Given the description of an element on the screen output the (x, y) to click on. 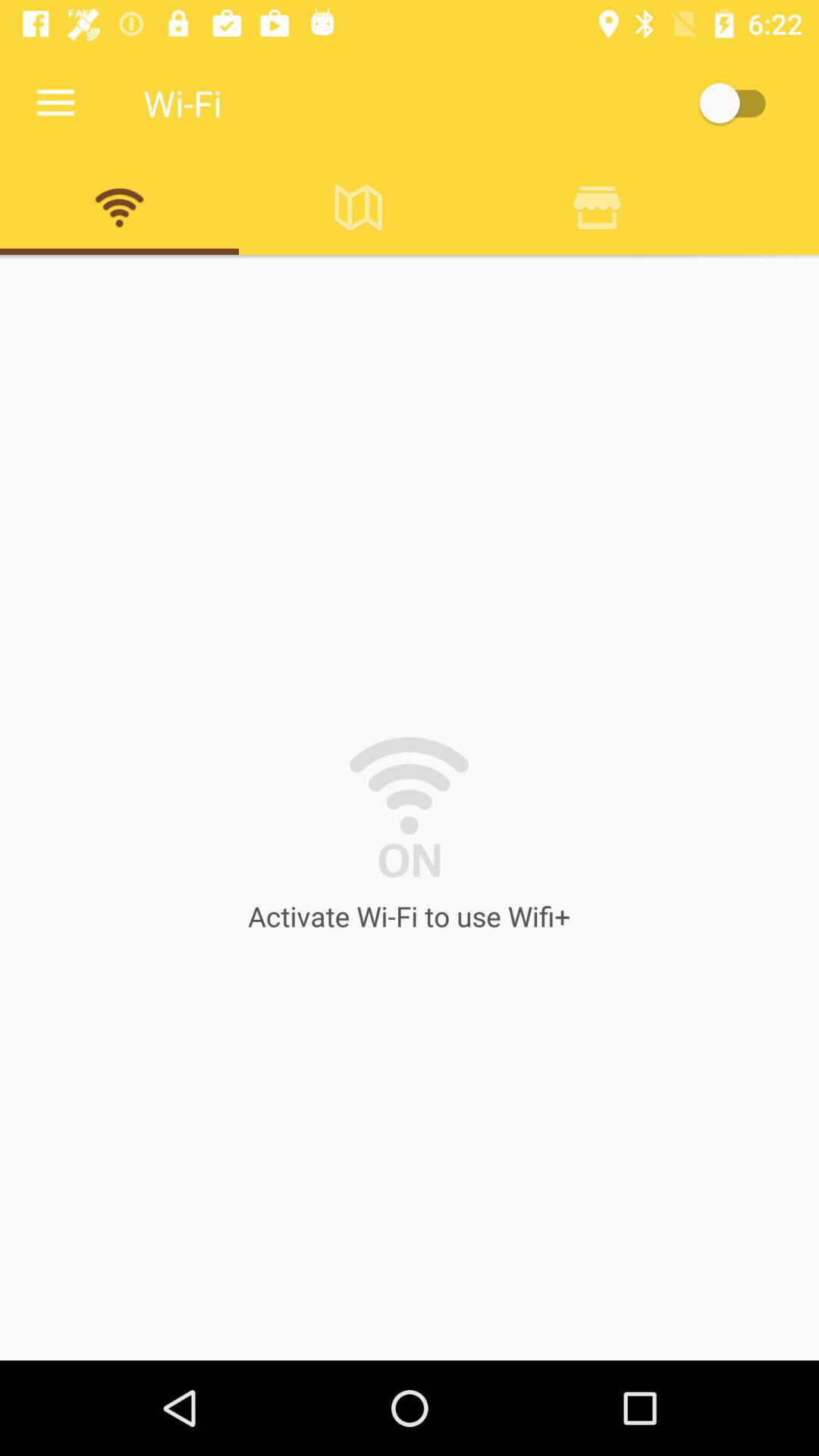
turn wifi on/off (739, 103)
